Given the description of an element on the screen output the (x, y) to click on. 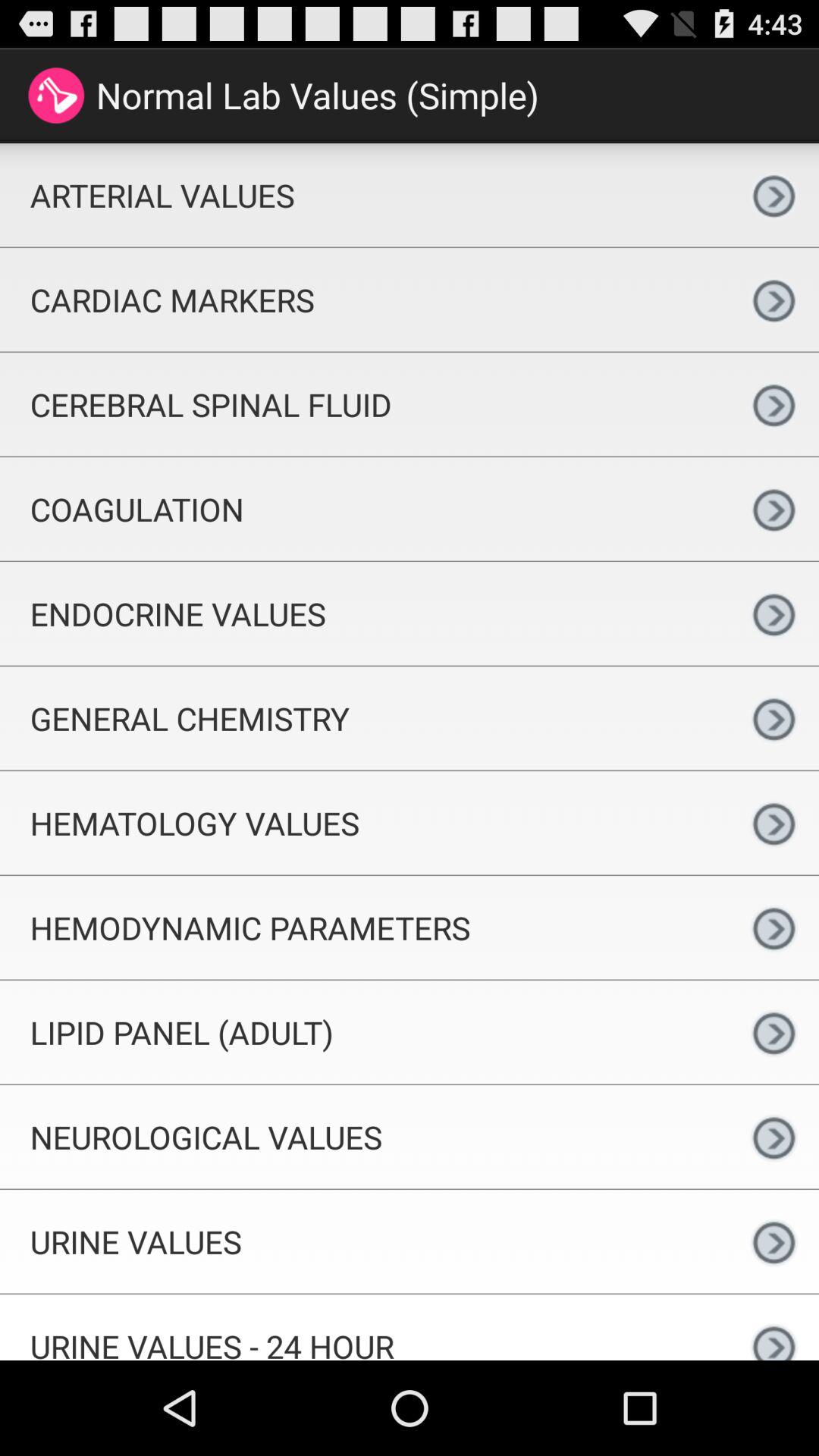
press the item below the endocrine values app (364, 718)
